Given the description of an element on the screen output the (x, y) to click on. 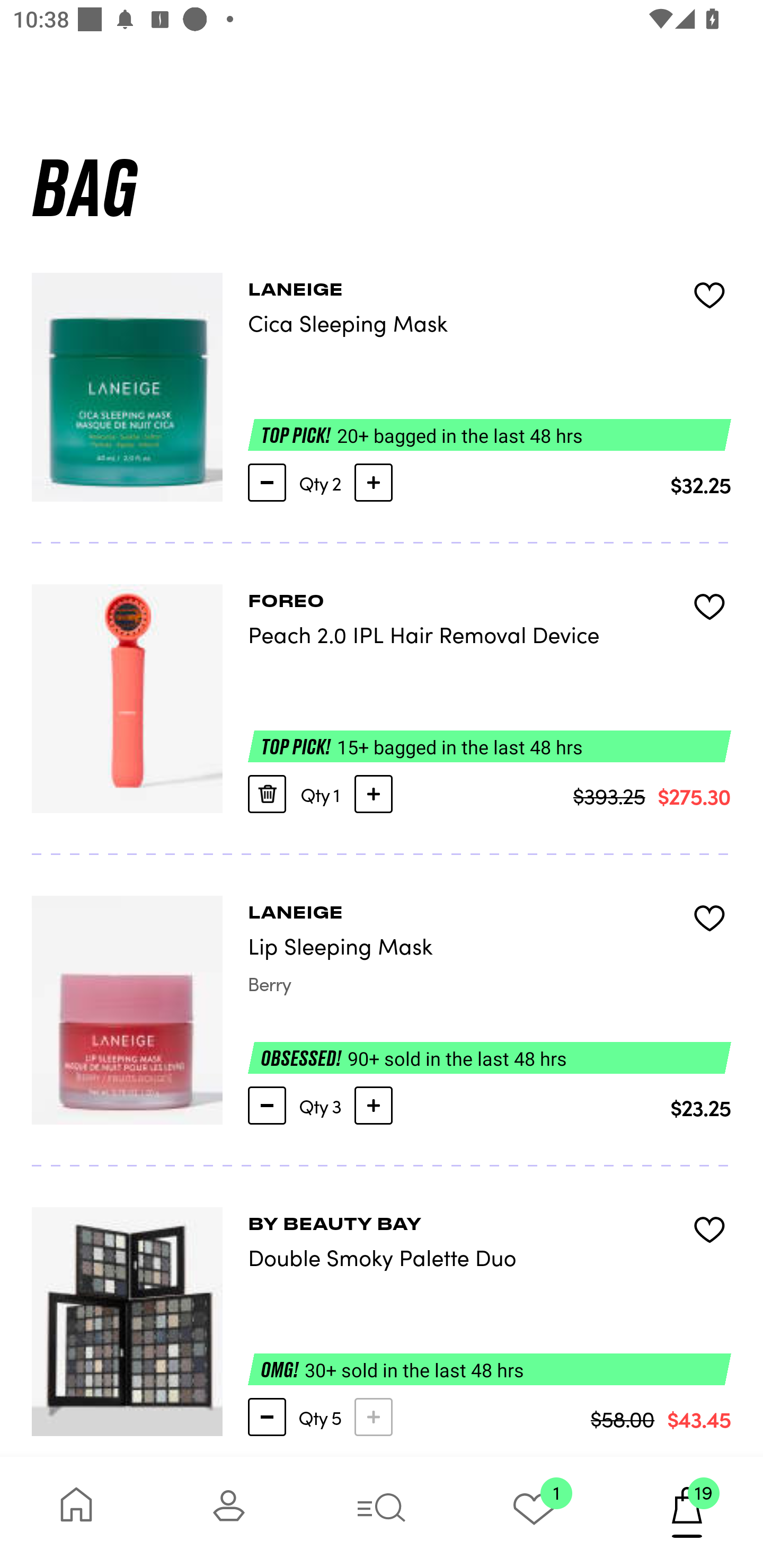
1 (533, 1512)
19 (686, 1512)
